Given the description of an element on the screen output the (x, y) to click on. 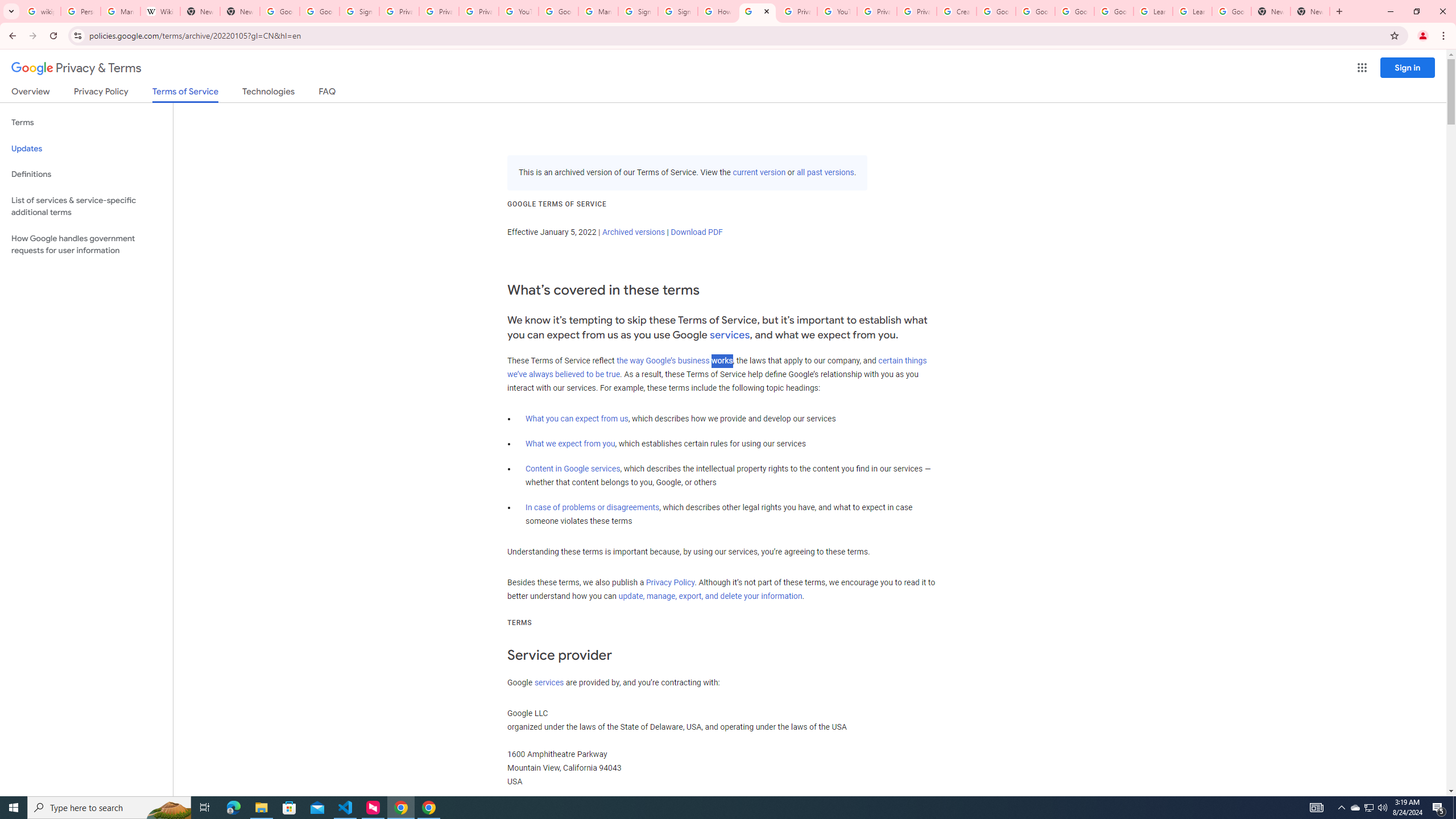
Google Account Help (1034, 11)
Google Account (1231, 11)
What you can expect from us (576, 418)
How Google handles government requests for user information (86, 244)
